Given the description of an element on the screen output the (x, y) to click on. 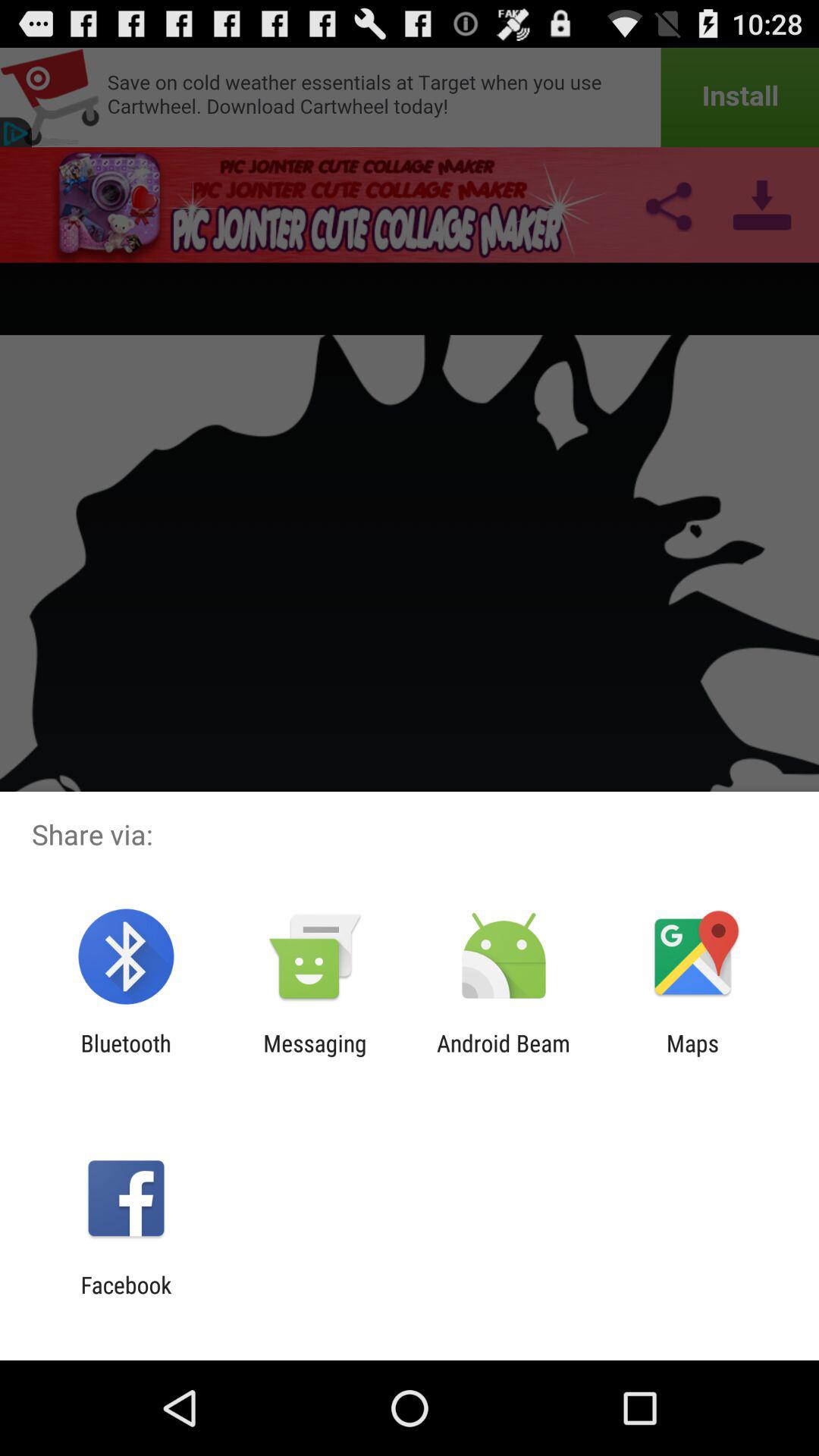
scroll to facebook app (125, 1298)
